Given the description of an element on the screen output the (x, y) to click on. 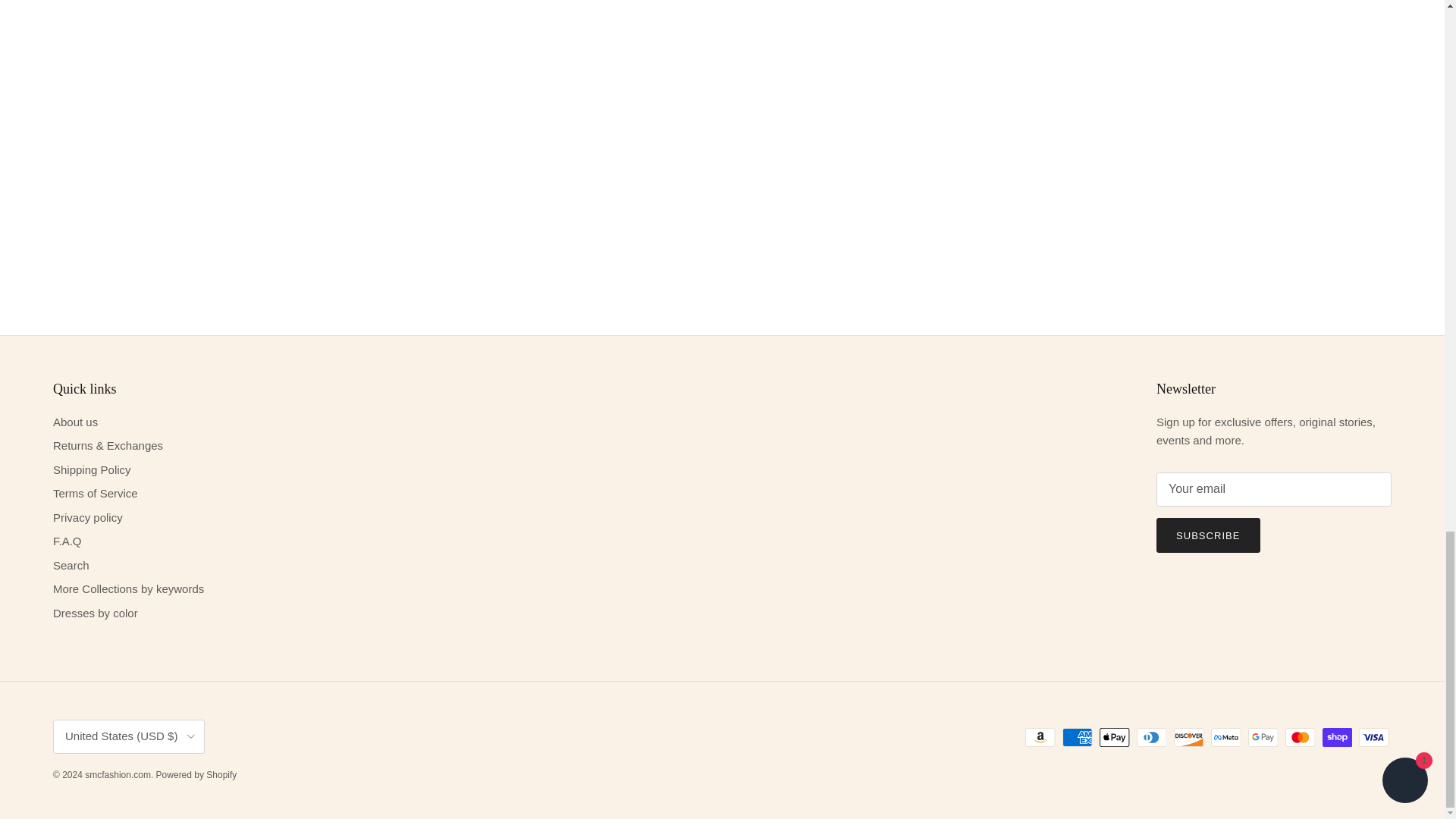
Meta Pay (1225, 737)
Apple Pay (1114, 737)
Google Pay (1262, 737)
American Express (1077, 737)
Shop Pay (1337, 737)
Mastercard (1299, 737)
Visa (1373, 737)
Diners Club (1151, 737)
Discover (1188, 737)
Amazon (1040, 737)
